Given the description of an element on the screen output the (x, y) to click on. 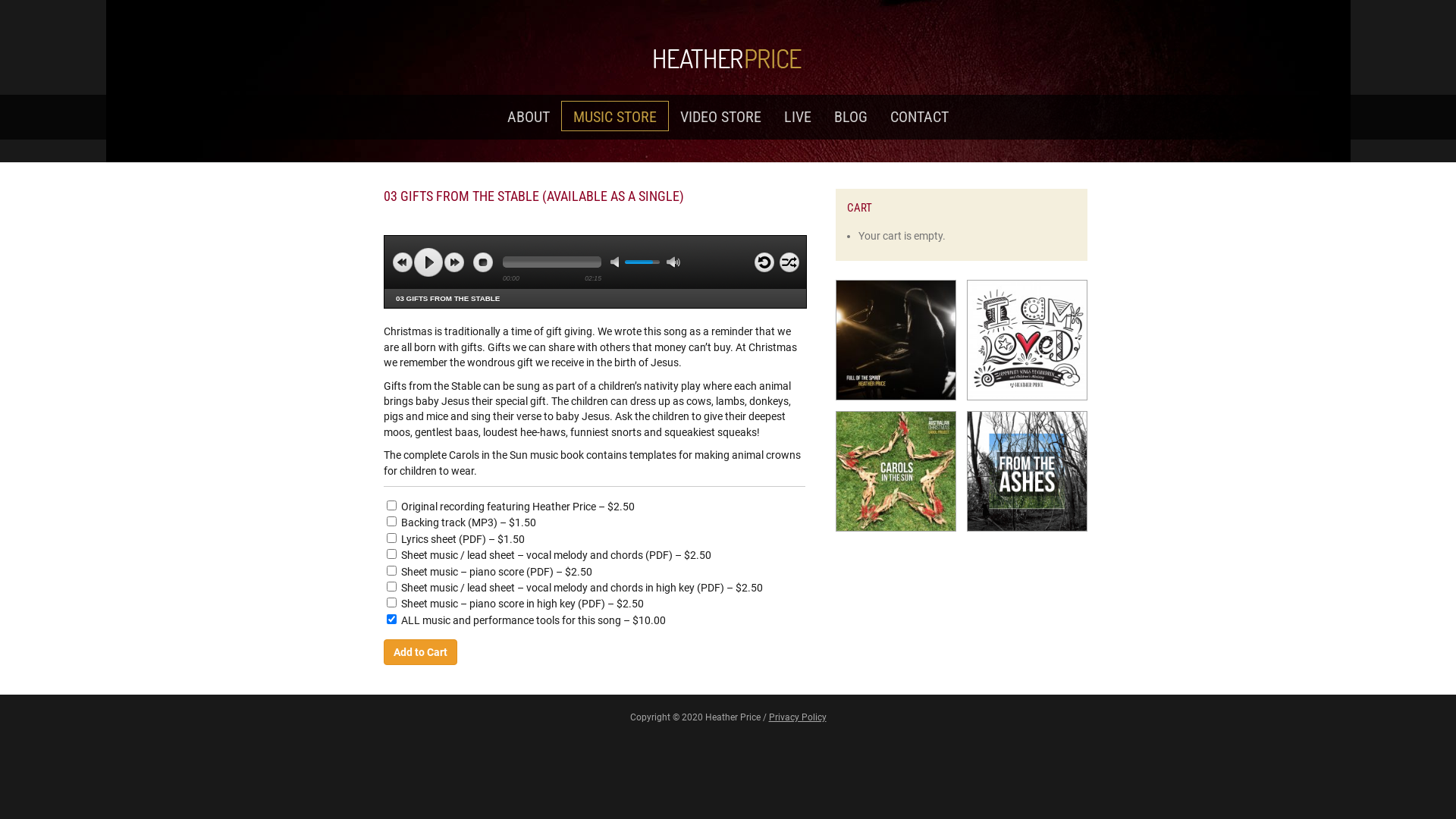
play Element type: text (428, 262)
MUSIC STORE Element type: text (614, 115)
next Element type: text (453, 262)
mute Element type: text (617, 261)
Carols in the Sun Album Element type: hover (895, 470)
Full of the Spirit Album Element type: hover (895, 339)
VIDEO STORE Element type: text (720, 116)
BLOG Element type: text (850, 116)
Add to Cart Element type: text (36, 12)
CONTACT Element type: text (919, 116)
From the Ashes Album Element type: hover (1026, 470)
Add to Cart Element type: text (420, 652)
I am Loved album Element type: hover (1026, 339)
03 GIFTS FROM THE STABLE Element type: text (447, 298)
Privacy Policy Element type: text (797, 717)
max volume Element type: text (673, 261)
ABOUT Element type: text (528, 116)
repeat Element type: text (764, 262)
previous Element type: text (402, 262)
LIVE Element type: text (797, 116)
stop Element type: text (482, 262)
shuffle Element type: text (789, 262)
